Given the description of an element on the screen output the (x, y) to click on. 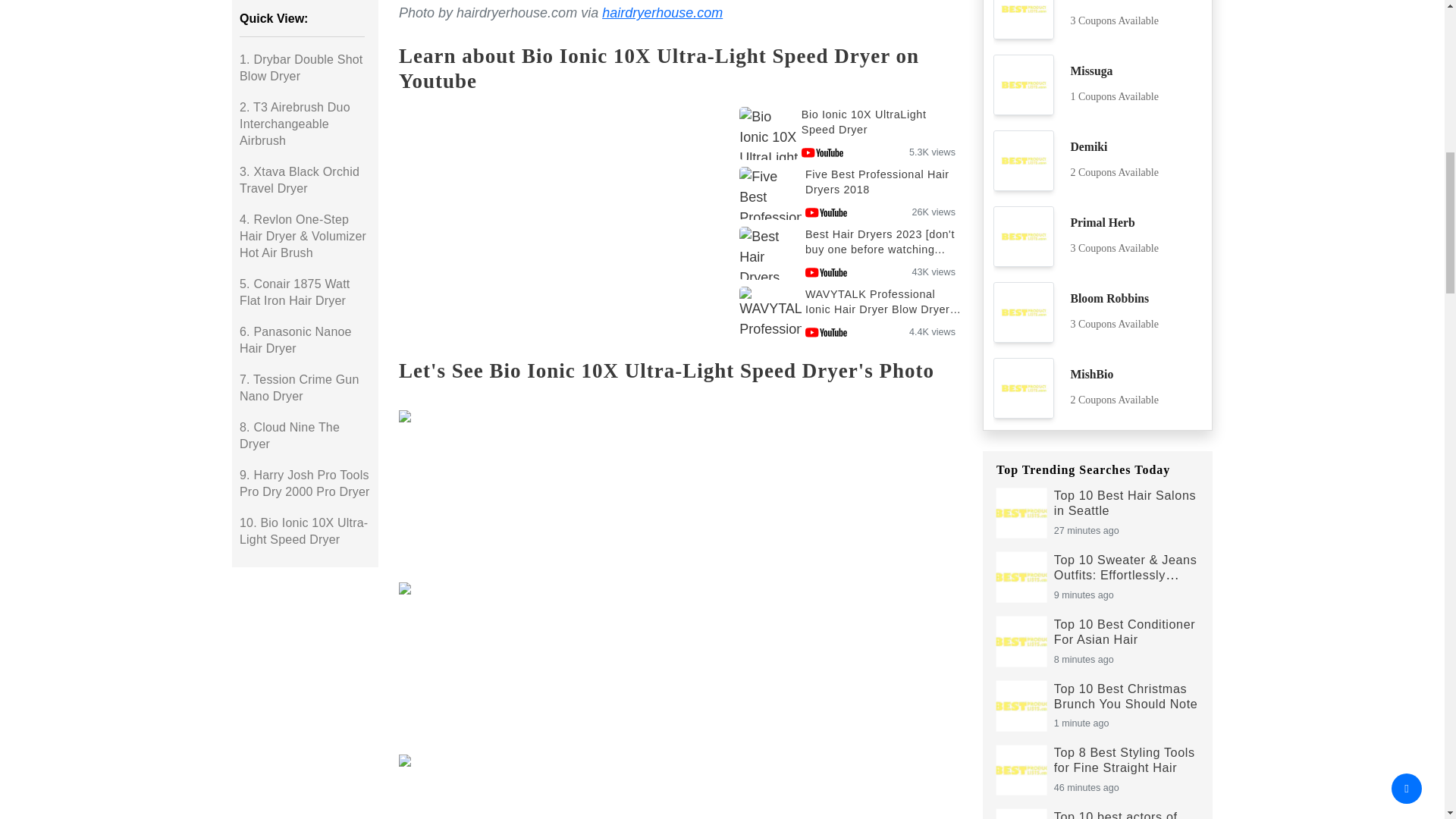
YouTube video player (558, 226)
hairdryerhouse.com (662, 12)
